Given the description of an element on the screen output the (x, y) to click on. 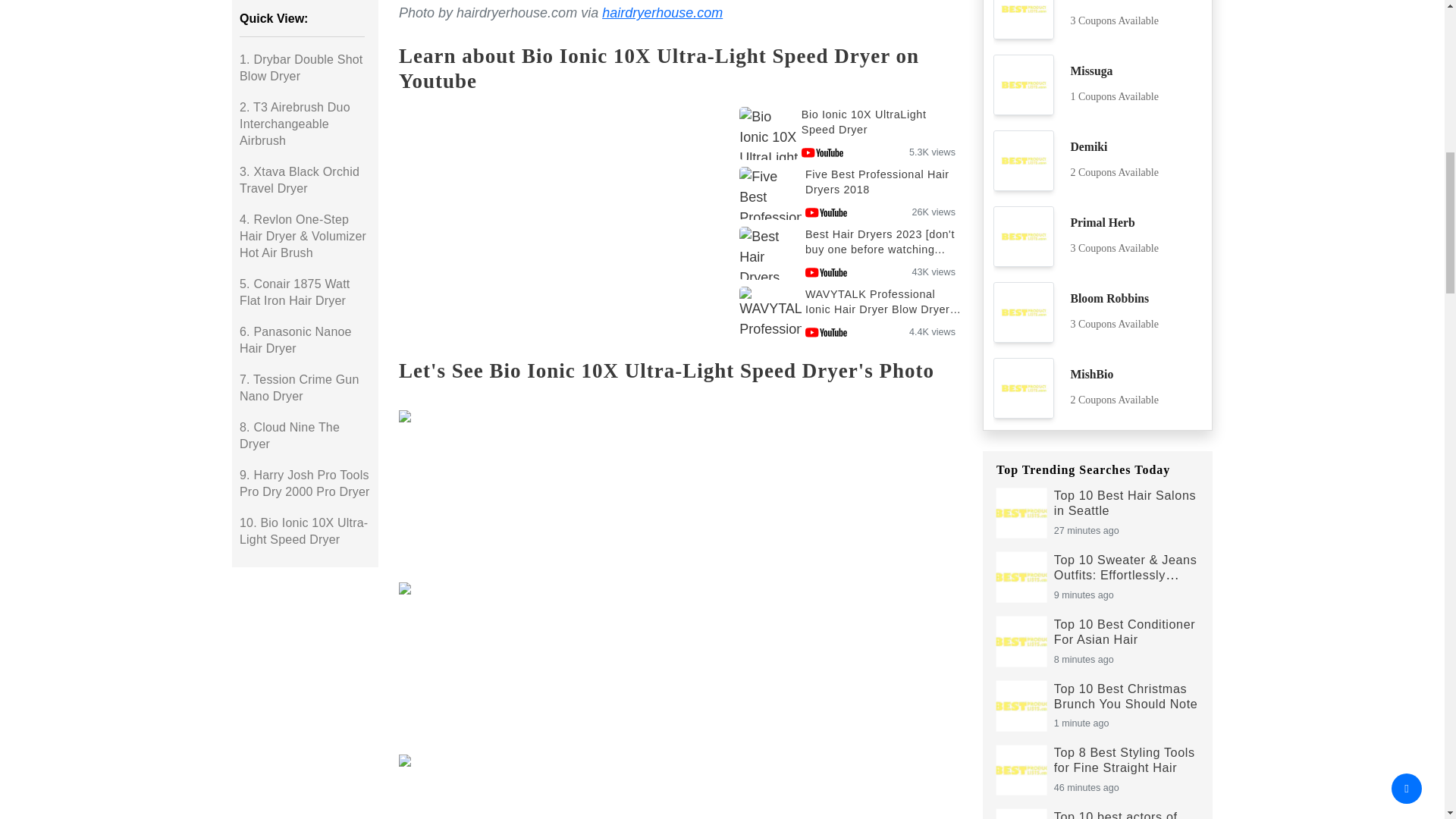
YouTube video player (558, 226)
hairdryerhouse.com (662, 12)
